Given the description of an element on the screen output the (x, y) to click on. 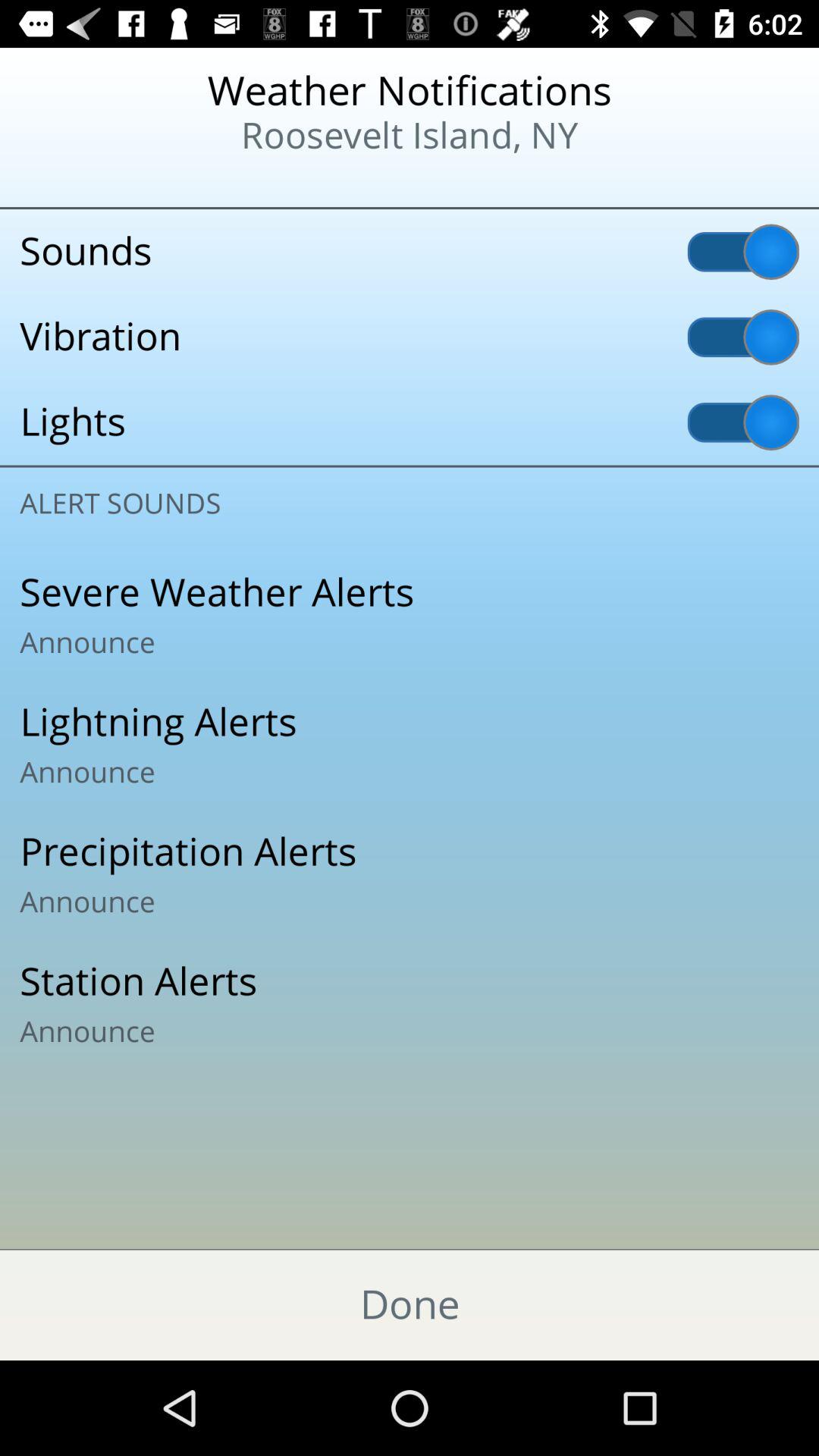
turn off item below the sounds icon (409, 336)
